Given the description of an element on the screen output the (x, y) to click on. 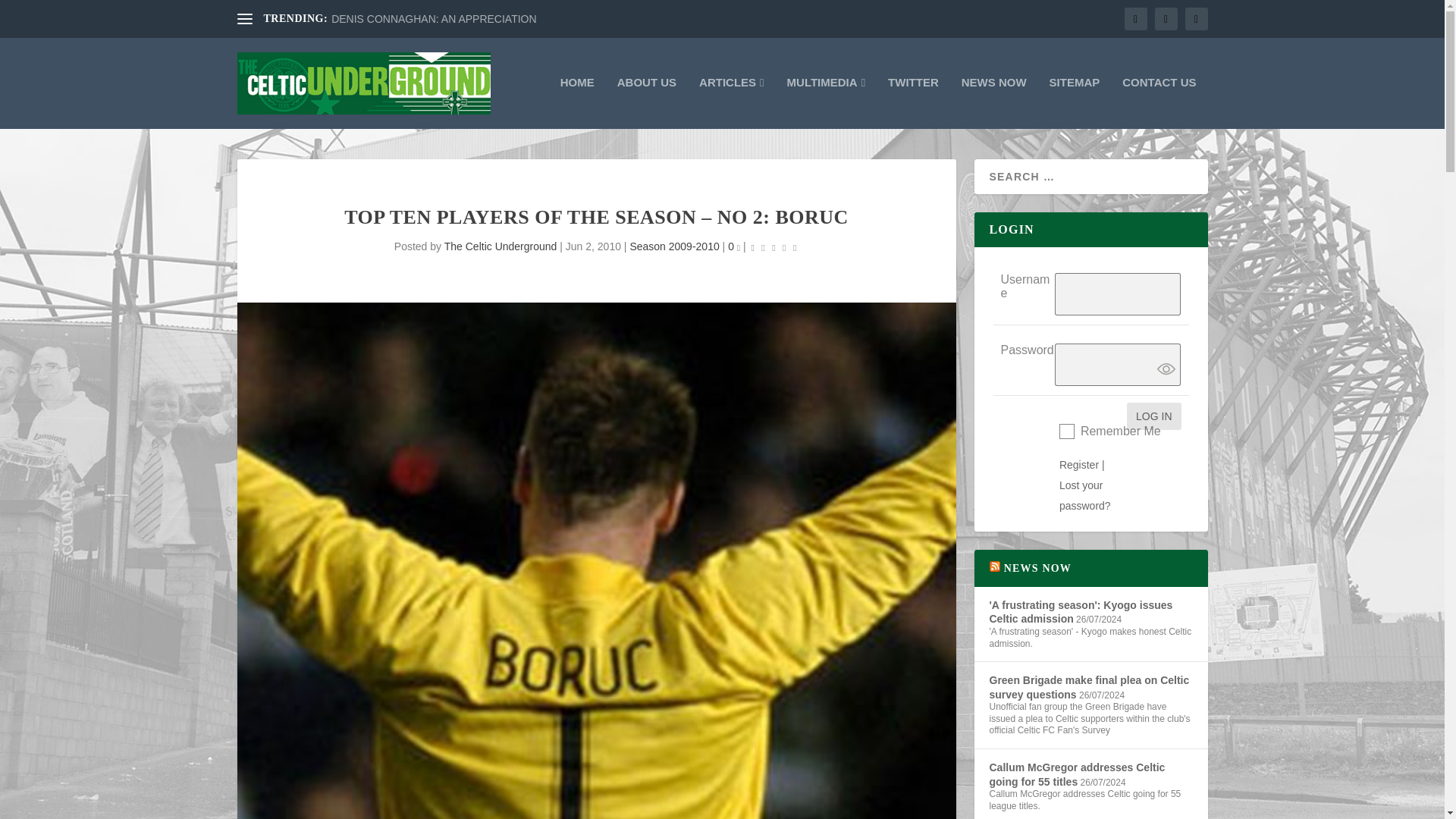
Log In (1153, 415)
DENIS CONNAGHAN: AN APPRECIATION (433, 19)
Rating: 0.00 (774, 247)
Posts by The Celtic Underground (500, 246)
